Given the description of an element on the screen output the (x, y) to click on. 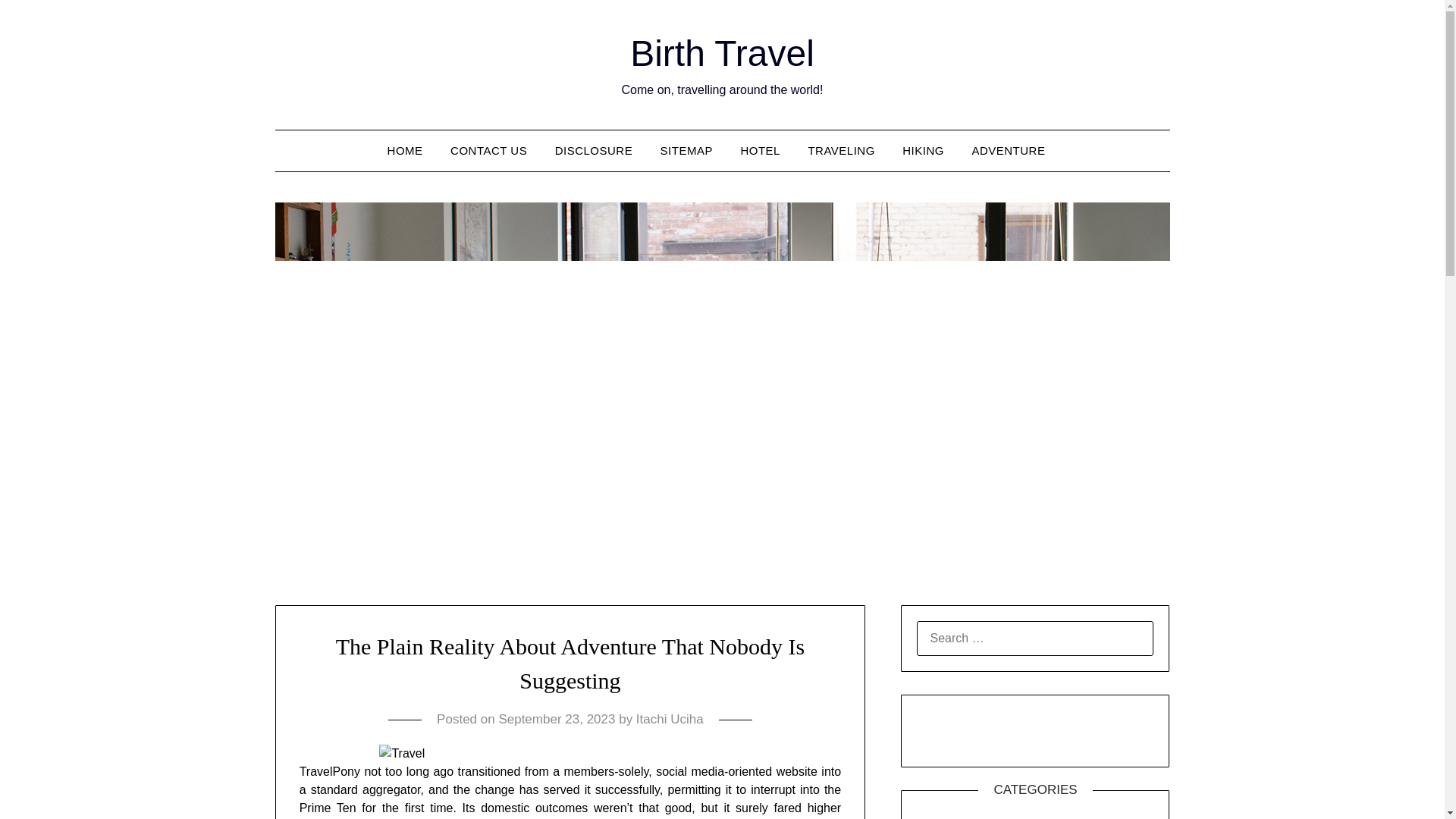
Itachi Uciha (669, 718)
Birth Travel (721, 53)
September 23, 2023 (555, 718)
CONTACT US (488, 150)
TRAVELING (840, 150)
HIKING (922, 150)
Search (38, 22)
DISCLOSURE (594, 150)
HOTEL (760, 150)
HOME (411, 150)
ADVENTURE (1008, 150)
SITEMAP (686, 150)
